Given the description of an element on the screen output the (x, y) to click on. 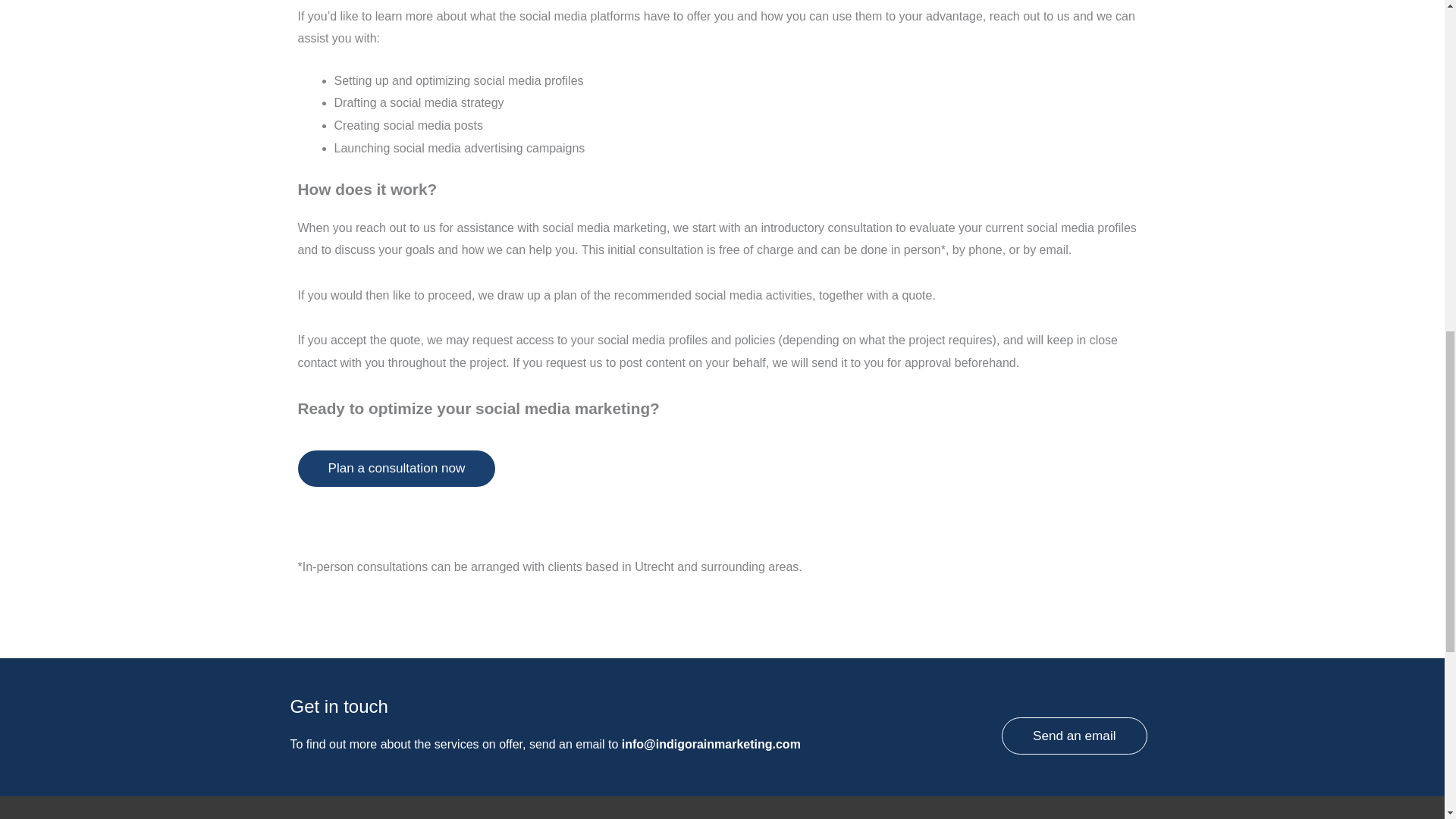
Plan a consultation now (396, 468)
Send an email (1074, 735)
